Given the description of an element on the screen output the (x, y) to click on. 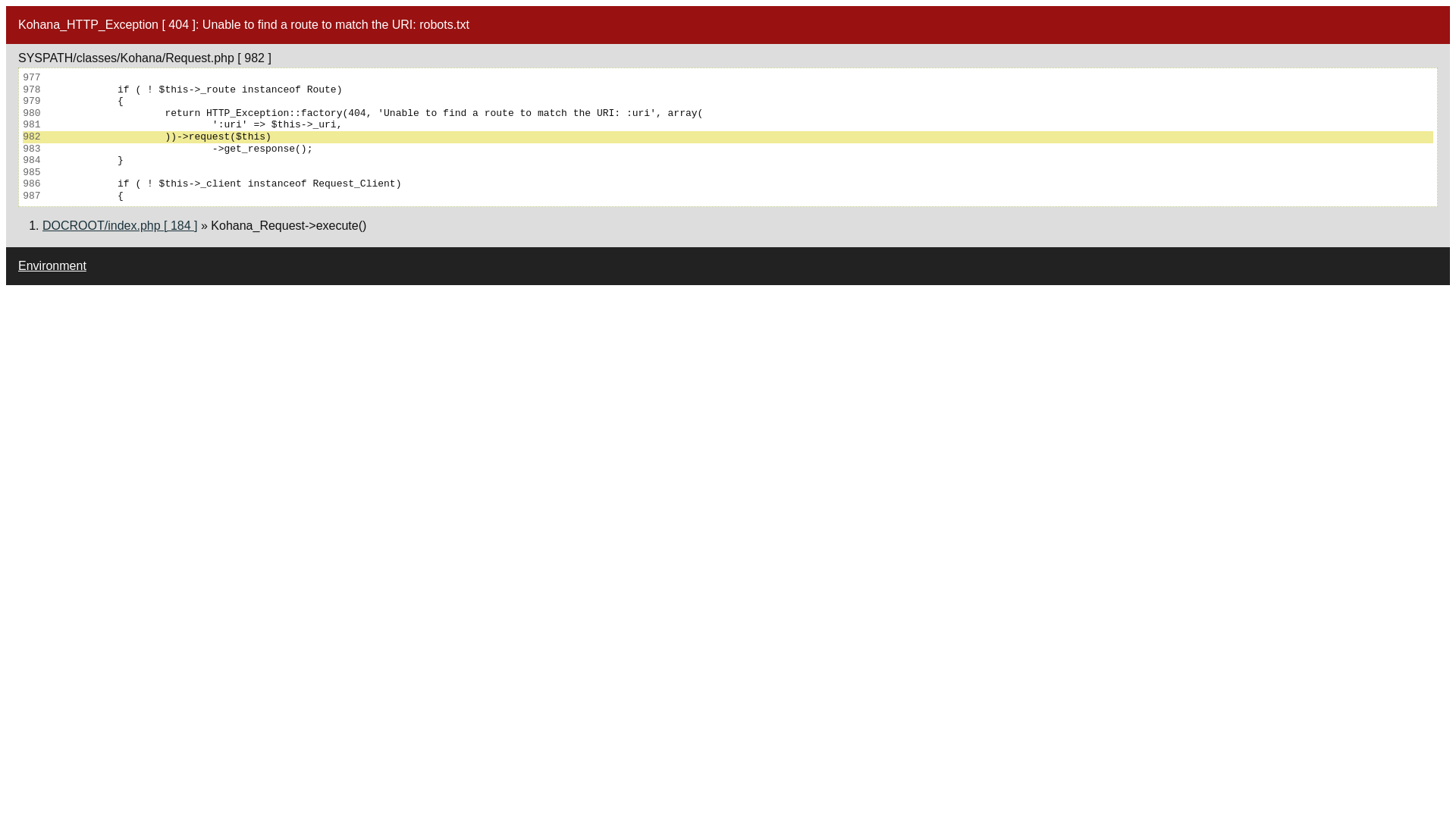
Environment Element type: text (52, 265)
DOCROOT/index.php [ 184 ] Element type: text (119, 225)
